Given the description of an element on the screen output the (x, y) to click on. 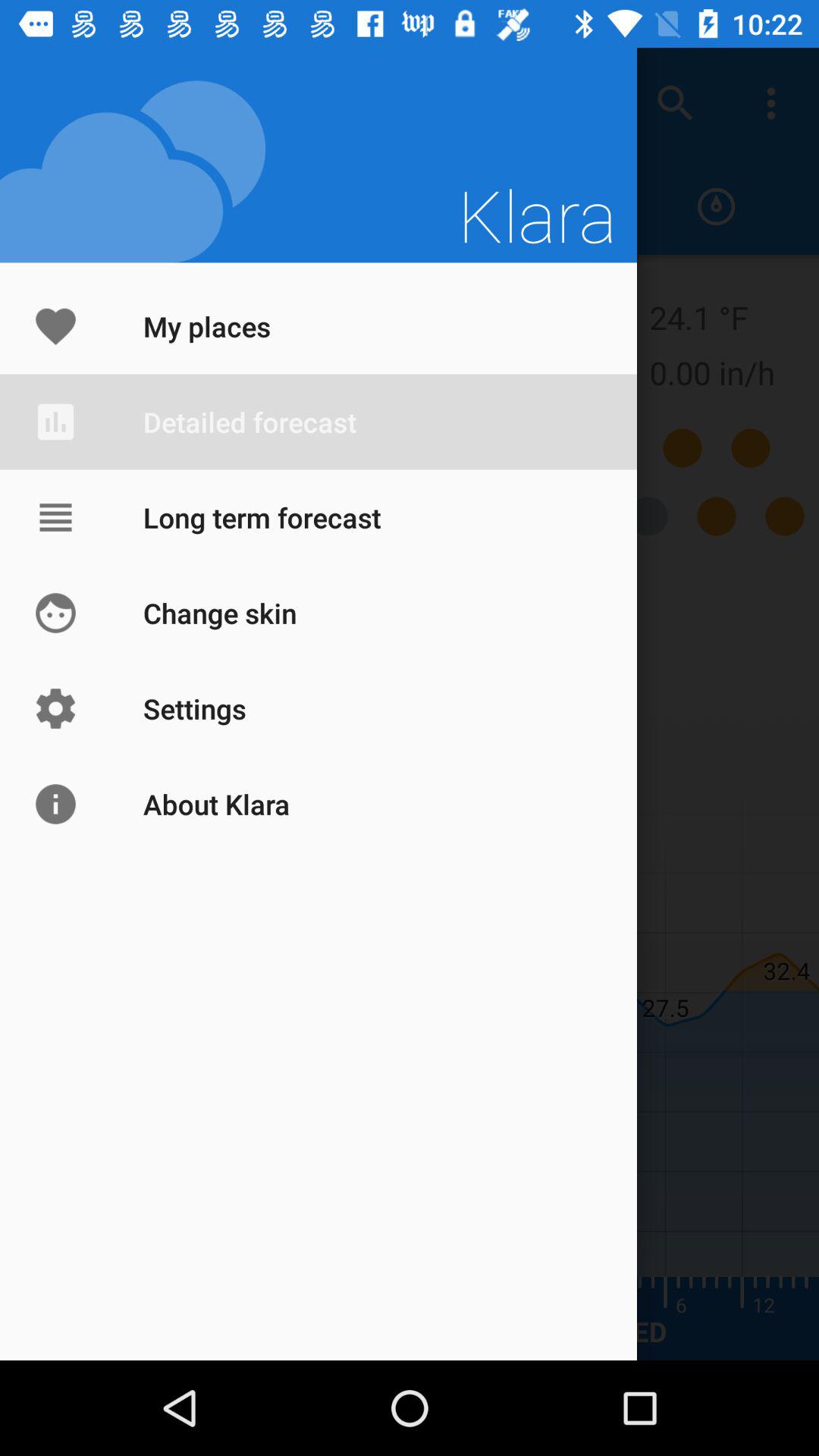
select the search icon which is before the menu icon on the top right corner (675, 103)
